Given the description of an element on the screen output the (x, y) to click on. 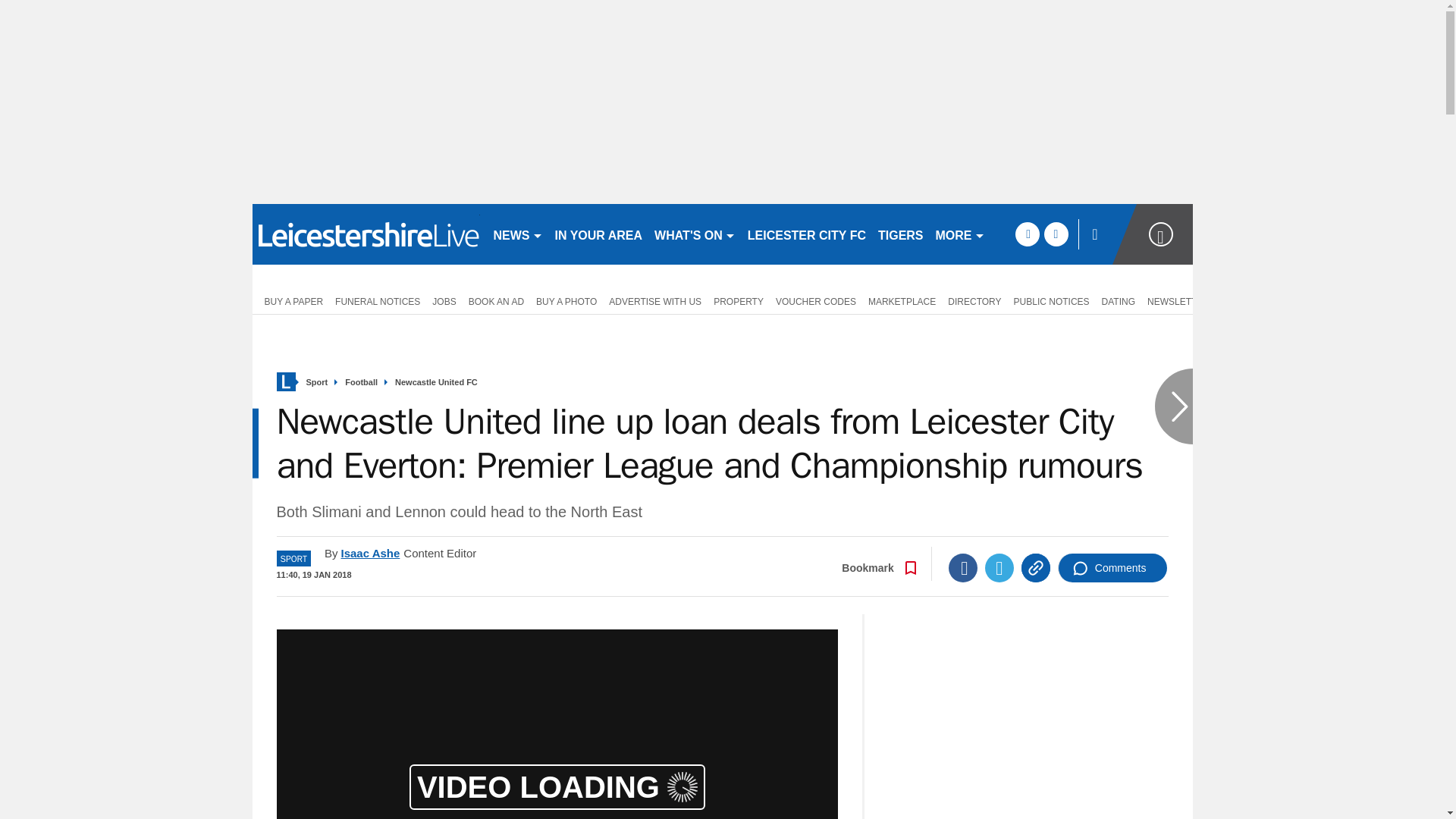
Facebook (962, 567)
twitter (1055, 233)
Comments (1112, 567)
NEWS (517, 233)
Twitter (999, 567)
leicestermercury (365, 233)
MORE (960, 233)
IN YOUR AREA (598, 233)
LEICESTER CITY FC (806, 233)
TIGERS (901, 233)
